Given the description of an element on the screen output the (x, y) to click on. 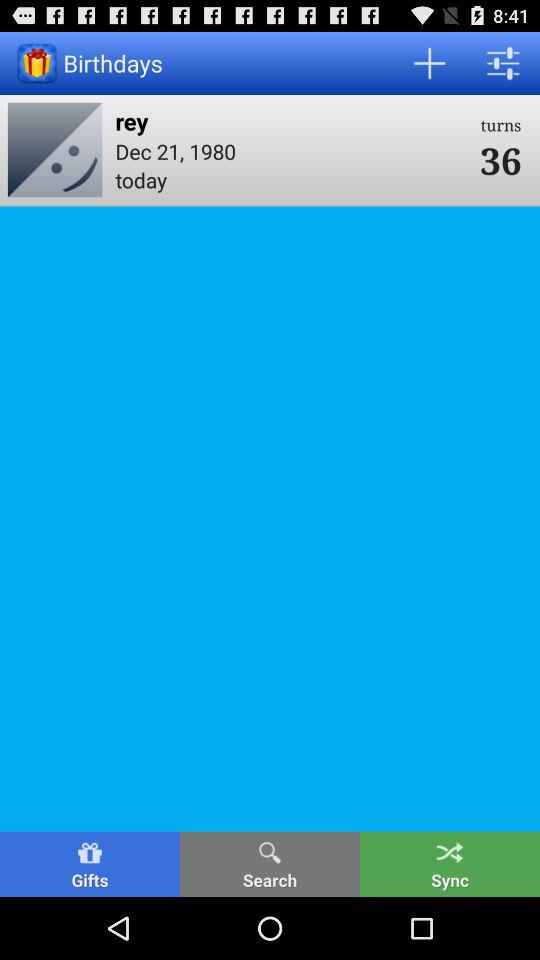
select icon to the left of search icon (90, 863)
